Given the description of an element on the screen output the (x, y) to click on. 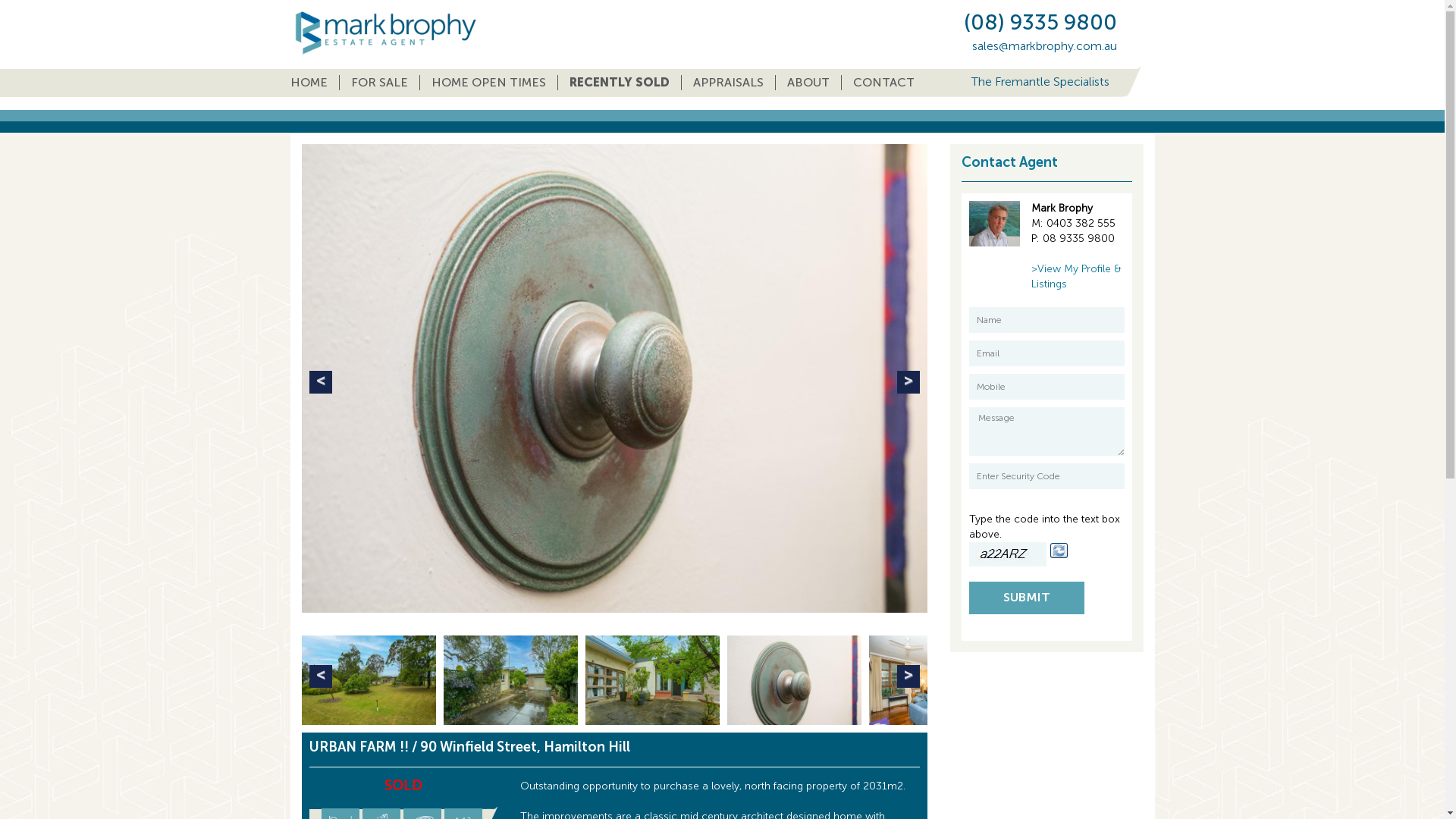
Previous Element type: text (320, 381)
Previous Element type: text (320, 676)
Submit Element type: text (1026, 597)
Next Element type: text (907, 676)
Next Element type: text (907, 381)
HOME Element type: text (313, 82)
HOME OPEN TIMES Element type: text (489, 82)
RECENTLY SOLD Element type: text (619, 82)
FOR SALE Element type: text (379, 82)
>View My Profile & Listings Element type: text (1076, 276)
ABOUT Element type: text (807, 82)
APPRAISALS Element type: text (727, 82)
CONTACT Element type: text (883, 82)
